Given the description of an element on the screen output the (x, y) to click on. 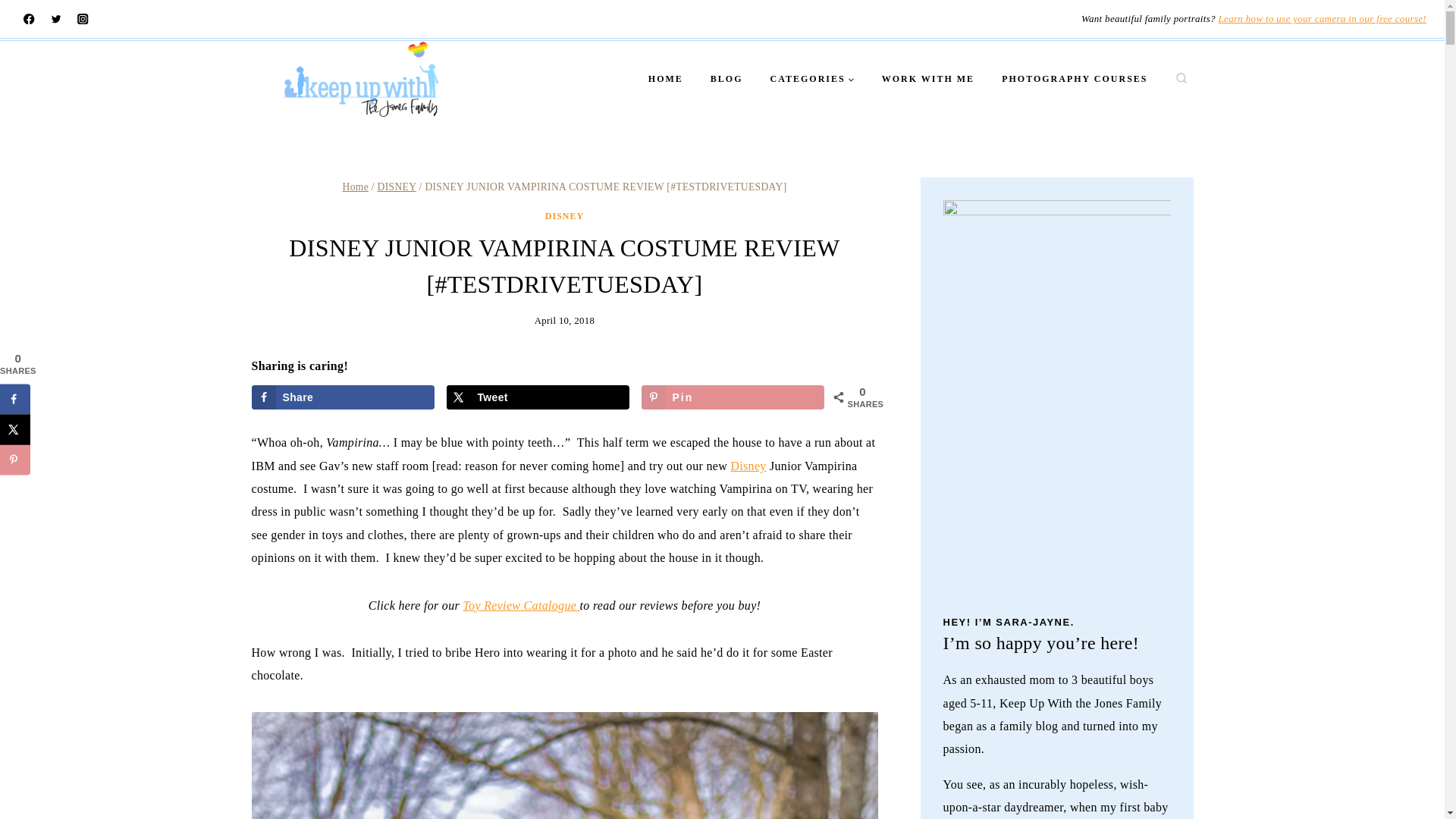
Share on Facebook (343, 396)
Disney (747, 465)
Share on X (15, 429)
Pin (733, 396)
HOME (665, 79)
DISNEY (563, 215)
PHOTOGRAPHY COURSES (1074, 79)
Toy Review Catalogue (521, 604)
DISNEY (396, 186)
Tweet (538, 396)
